Given the description of an element on the screen output the (x, y) to click on. 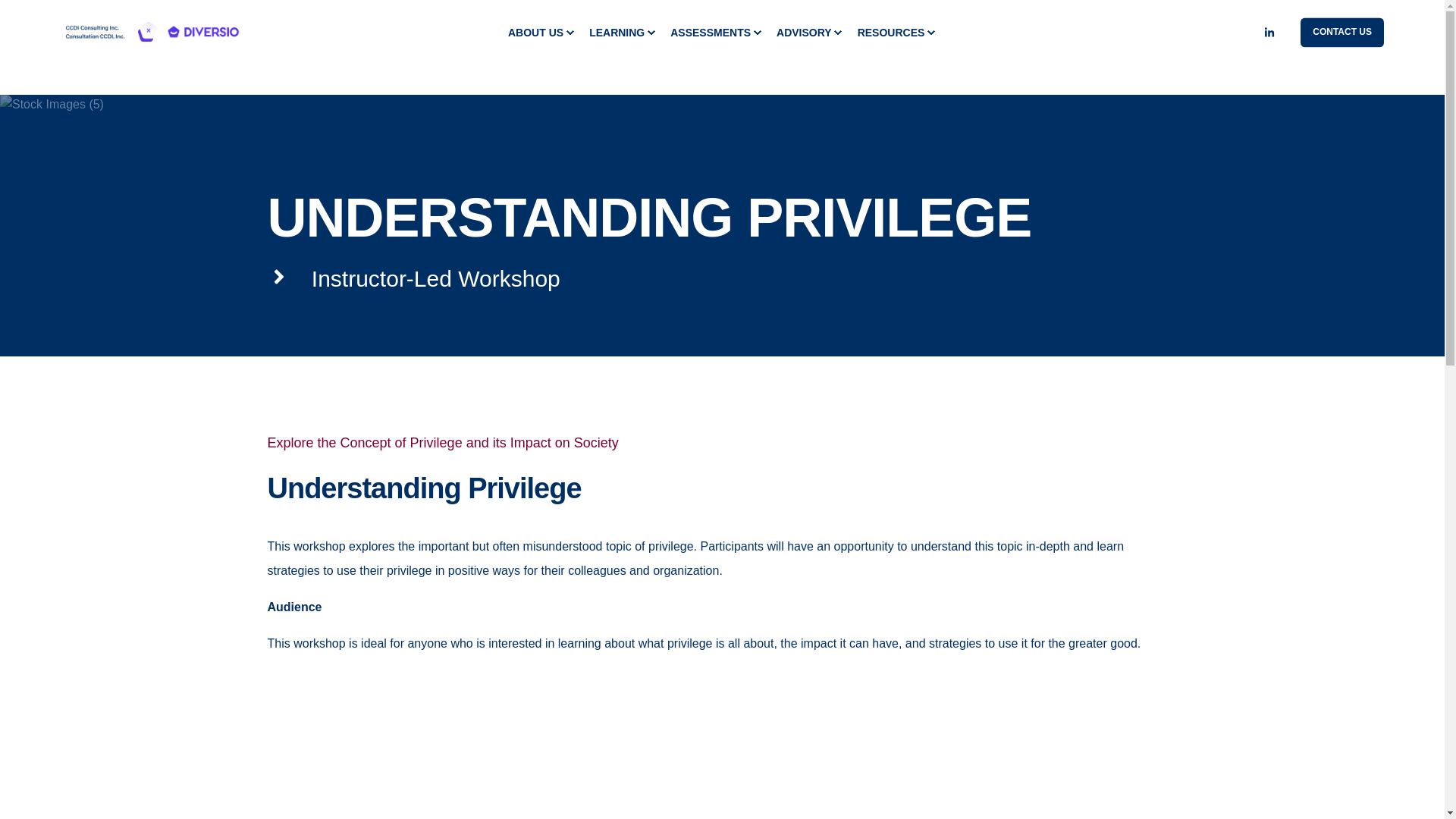
RESOURCES (895, 32)
ASSESSMENTS (714, 32)
ABOUT US (539, 32)
ADVISORY (807, 32)
LEARNING (620, 32)
logo (152, 31)
Button Contact Us (1342, 31)
CONTACT US (1342, 31)
